Given the description of an element on the screen output the (x, y) to click on. 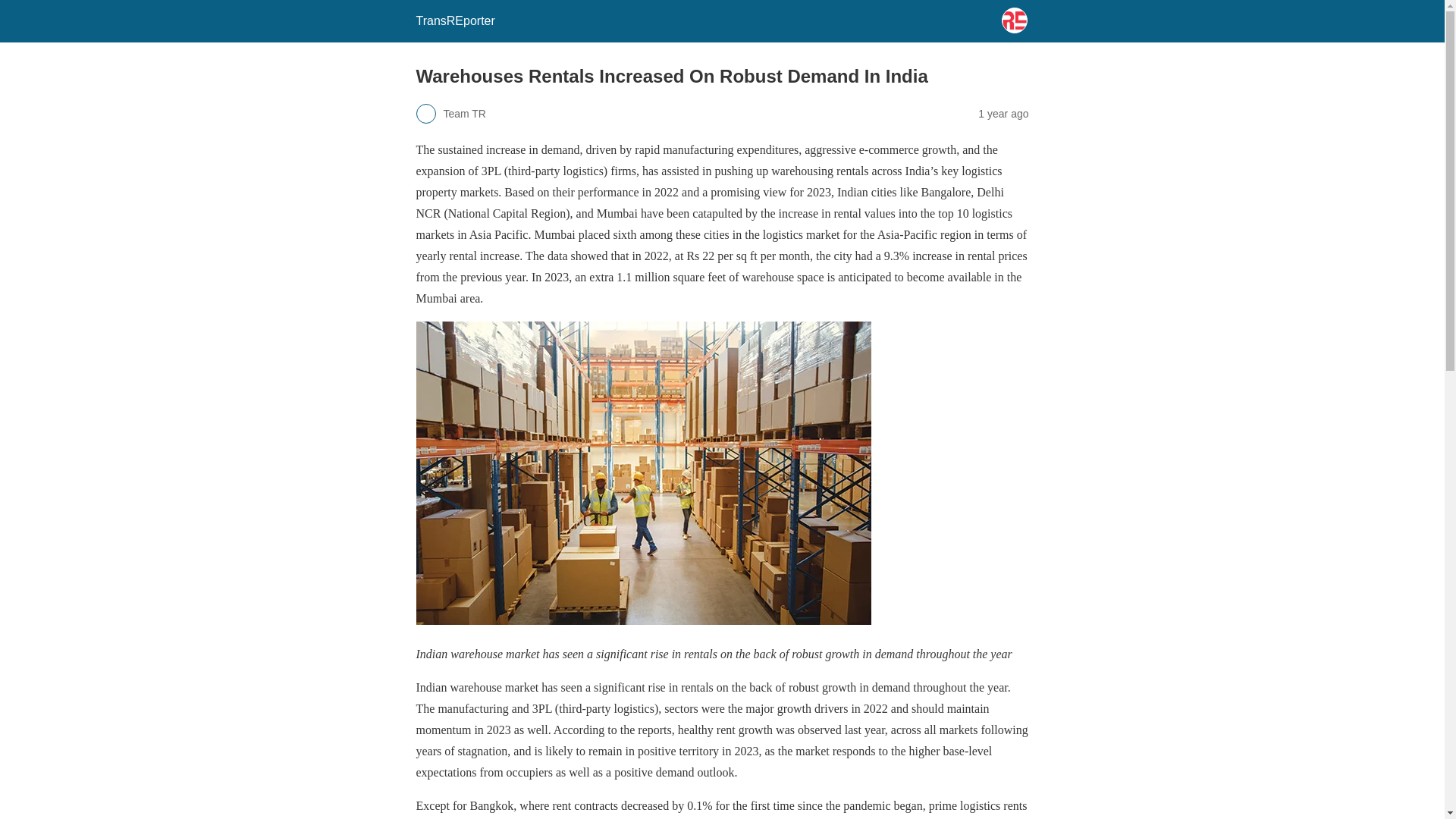
TransREporter (454, 20)
